Given the description of an element on the screen output the (x, y) to click on. 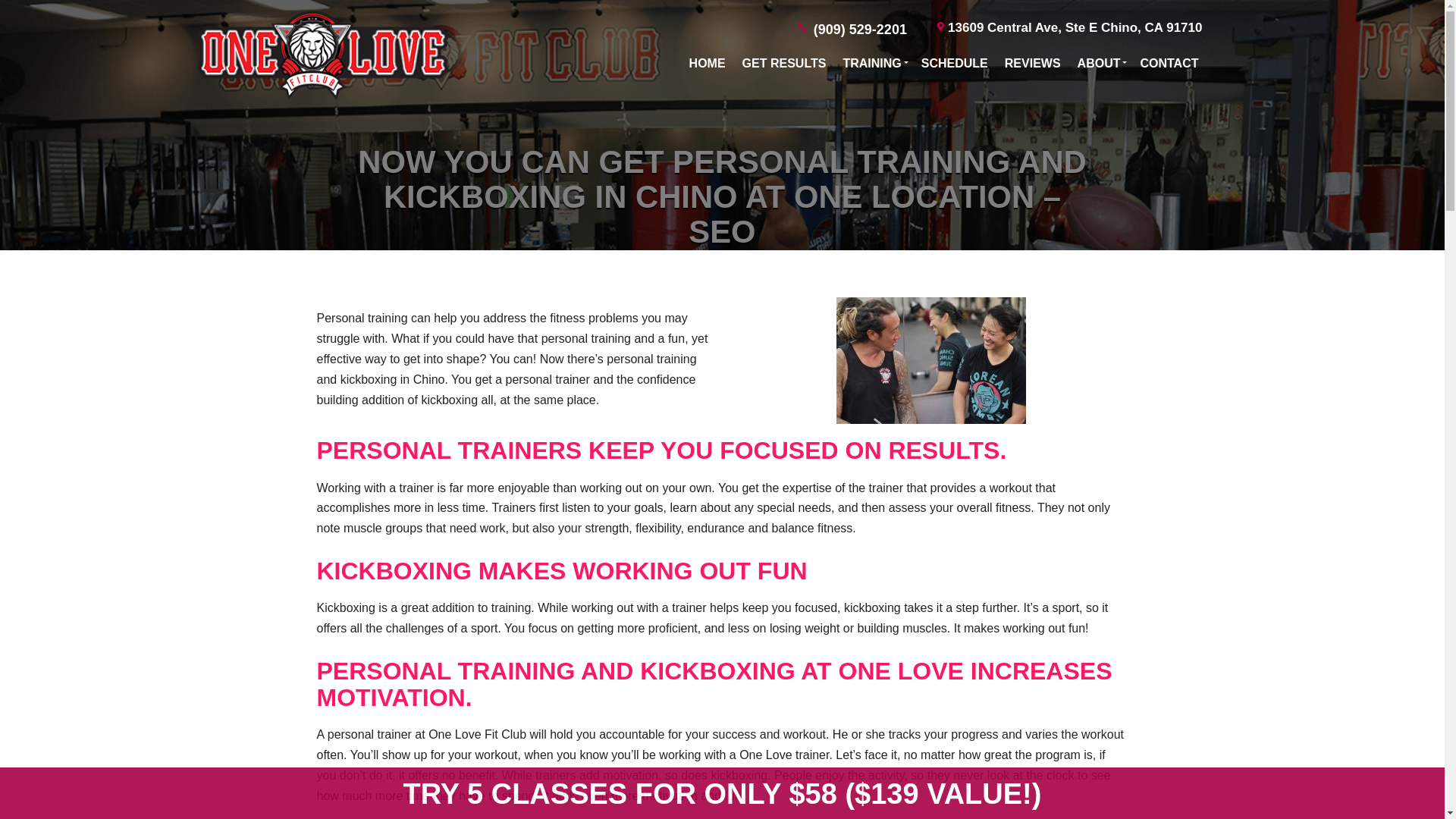
ABOUT (1100, 62)
One Love Fit Club (324, 95)
REVIEWS (1032, 62)
TRAINING (872, 62)
GET RESULTS (784, 62)
CONTACT (1169, 62)
nray-training (930, 360)
HOME (707, 62)
SCHEDULE (954, 62)
